Given the description of an element on the screen output the (x, y) to click on. 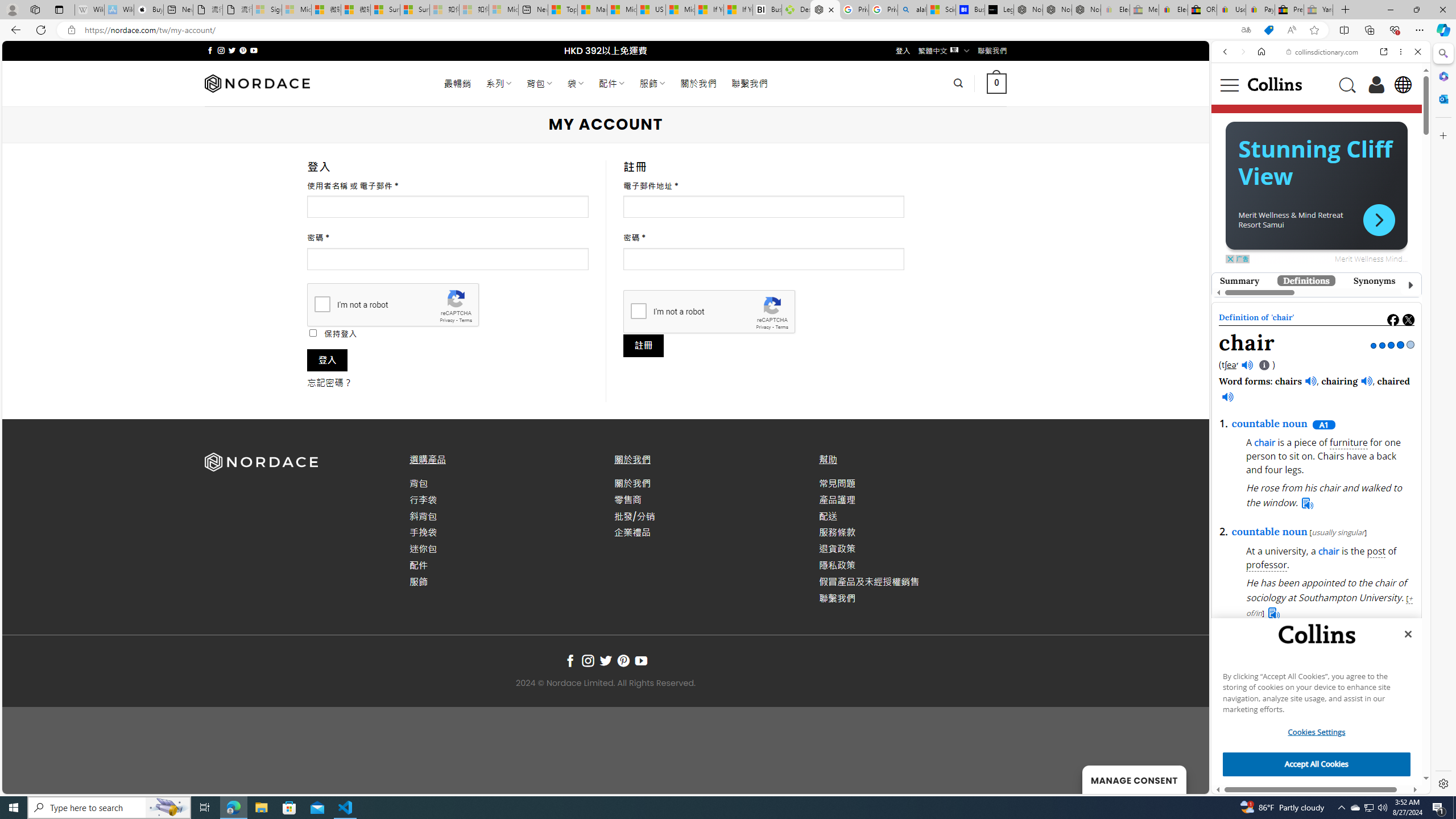
Payments Terms of Use | eBay.com (1259, 9)
Follow on YouTube (640, 660)
Nordace - My Account (825, 9)
post (1376, 551)
Go to the homepage (1274, 84)
